Given the description of an element on the screen output the (x, y) to click on. 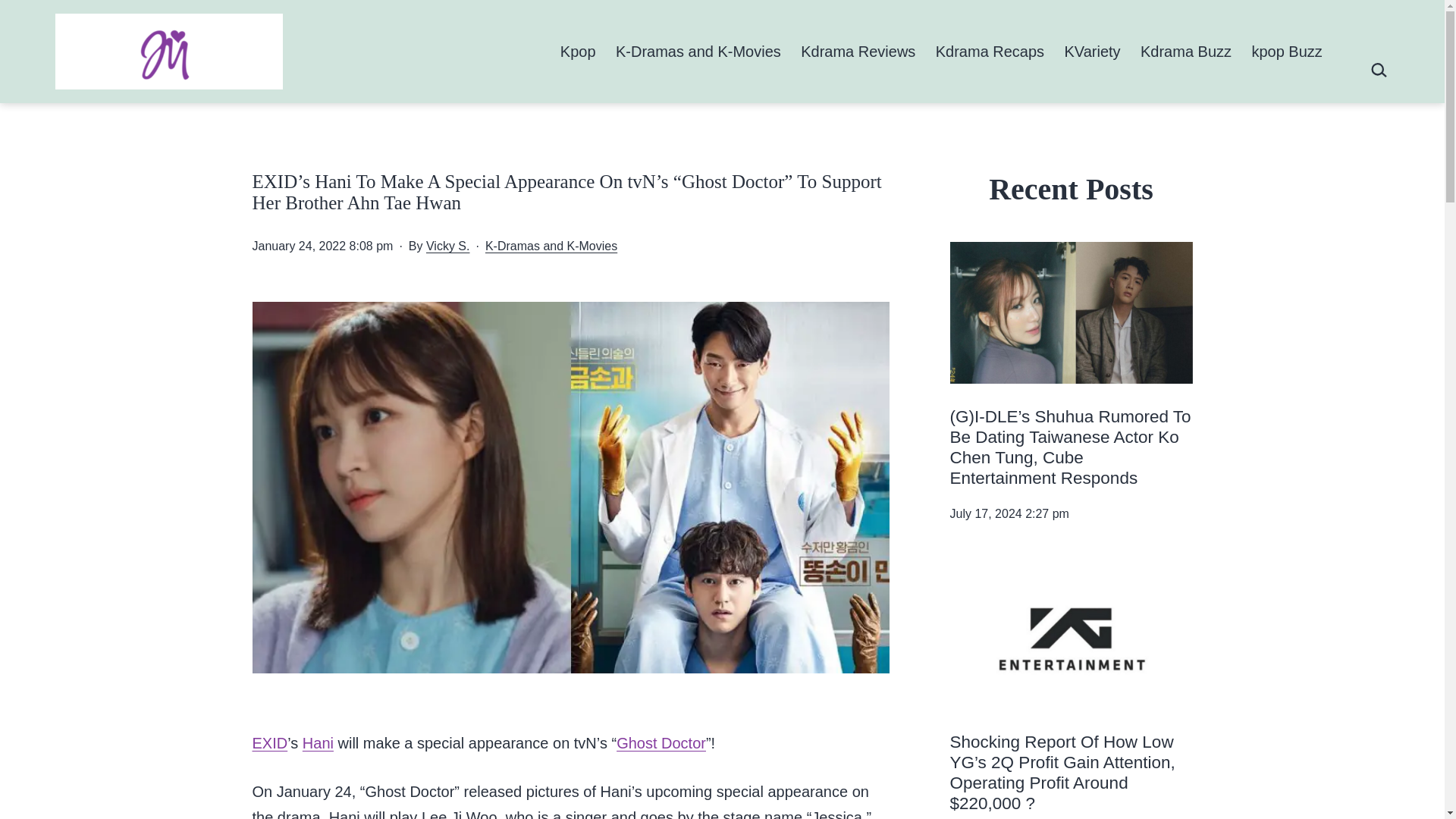
Kdrama Reviews (858, 50)
Kdrama Recaps (990, 50)
KVariety (1091, 50)
Hani (317, 742)
K-Dramas and K-Movies (550, 245)
EXID (268, 742)
Ghost Doctor (660, 742)
K-Dramas and K-Movies (697, 50)
Kpop (577, 50)
kpop Buzz (1286, 50)
yg entertainment (1070, 639)
Vicky S. (448, 245)
Kdrama Buzz (1186, 50)
Shuhua (1070, 312)
